Given the description of an element on the screen output the (x, y) to click on. 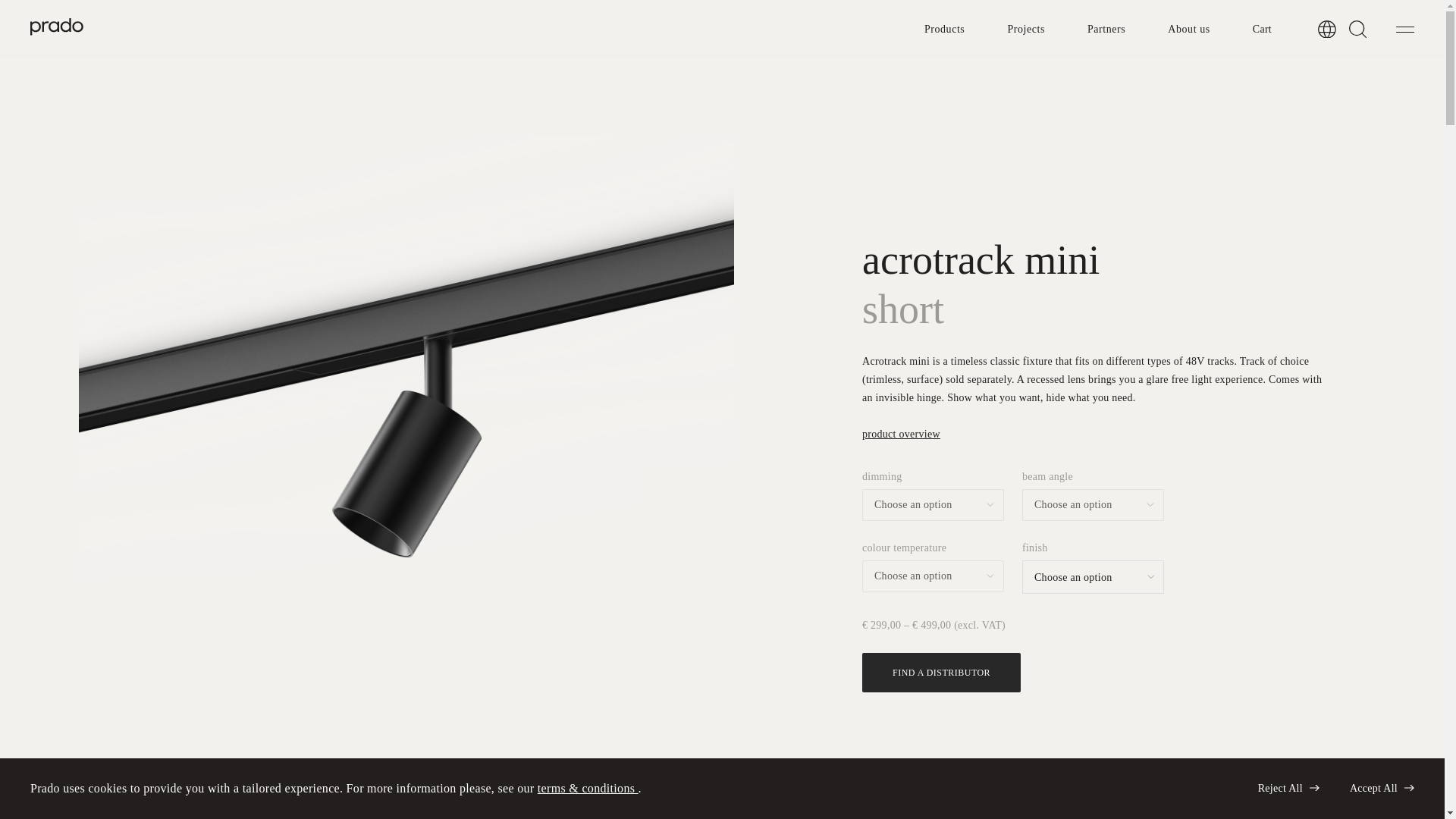
About us (1188, 28)
Projects (1026, 28)
Choose an option (1074, 577)
Products (943, 28)
Cart (1261, 28)
product overview (900, 433)
Product details (361, 793)
Partners (1106, 28)
FIND A DISTRIBUTOR (940, 672)
